Given the description of an element on the screen output the (x, y) to click on. 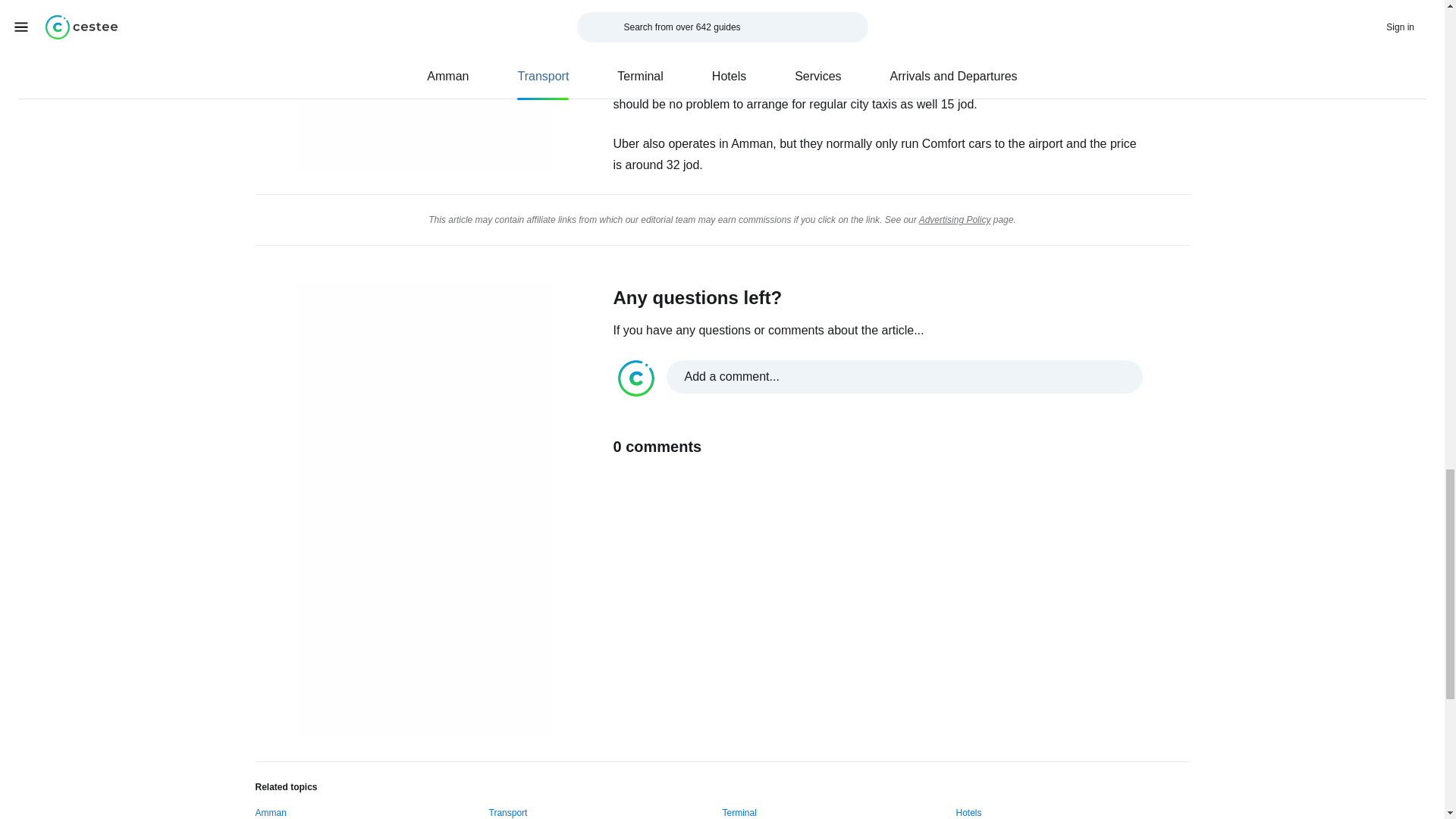
Advertising Policy (954, 219)
Terminal (738, 809)
Transport (507, 809)
Hotels (968, 809)
Amman (269, 809)
Add a comment... (879, 378)
